Given the description of an element on the screen output the (x, y) to click on. 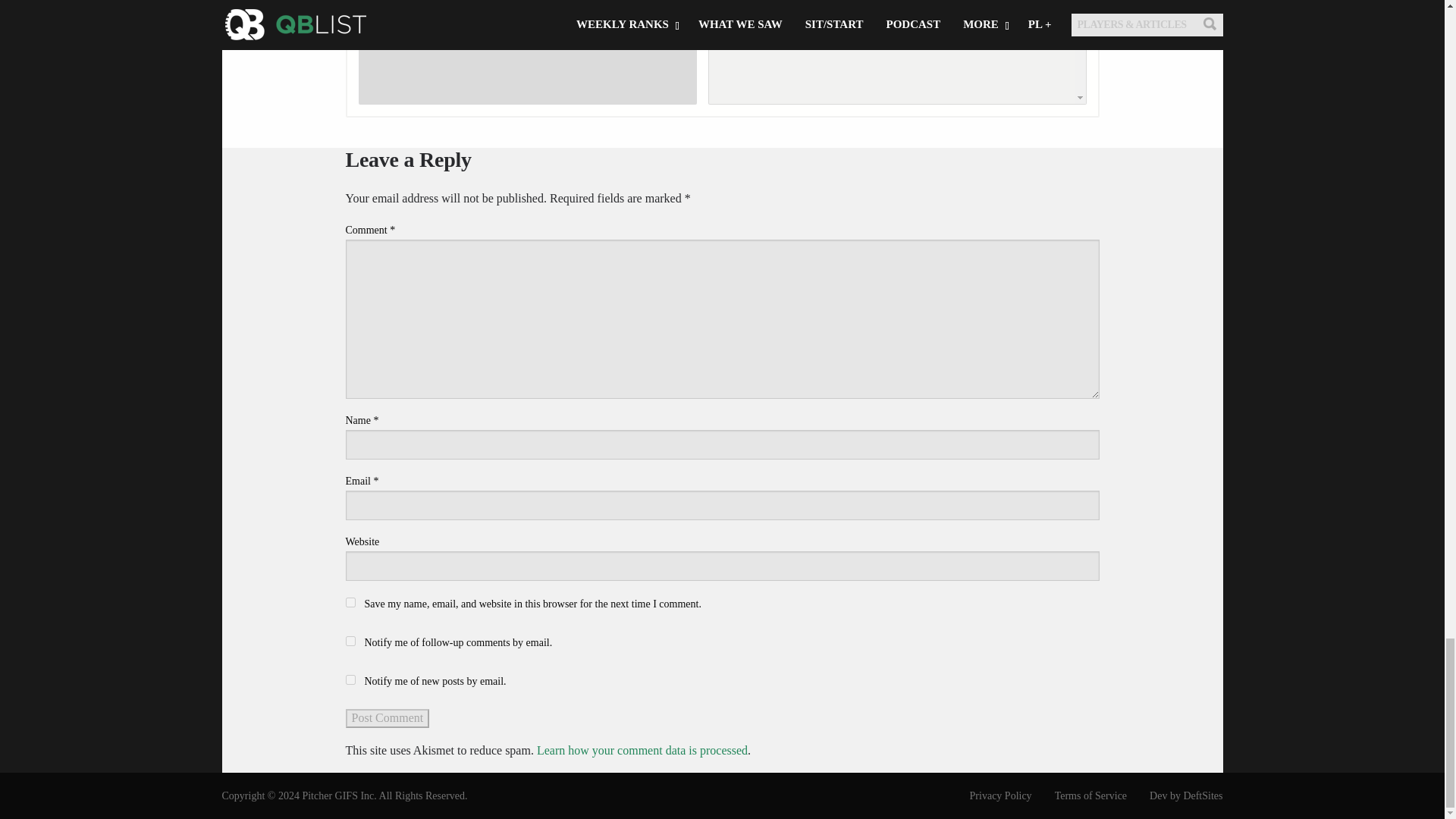
Post Comment (387, 718)
subscribe (350, 679)
Learn how your comment data is processed (642, 749)
Privacy Policy (989, 795)
yes (350, 602)
subscribe (350, 641)
Terms of Service (1079, 795)
Post Comment (387, 718)
